Given the description of an element on the screen output the (x, y) to click on. 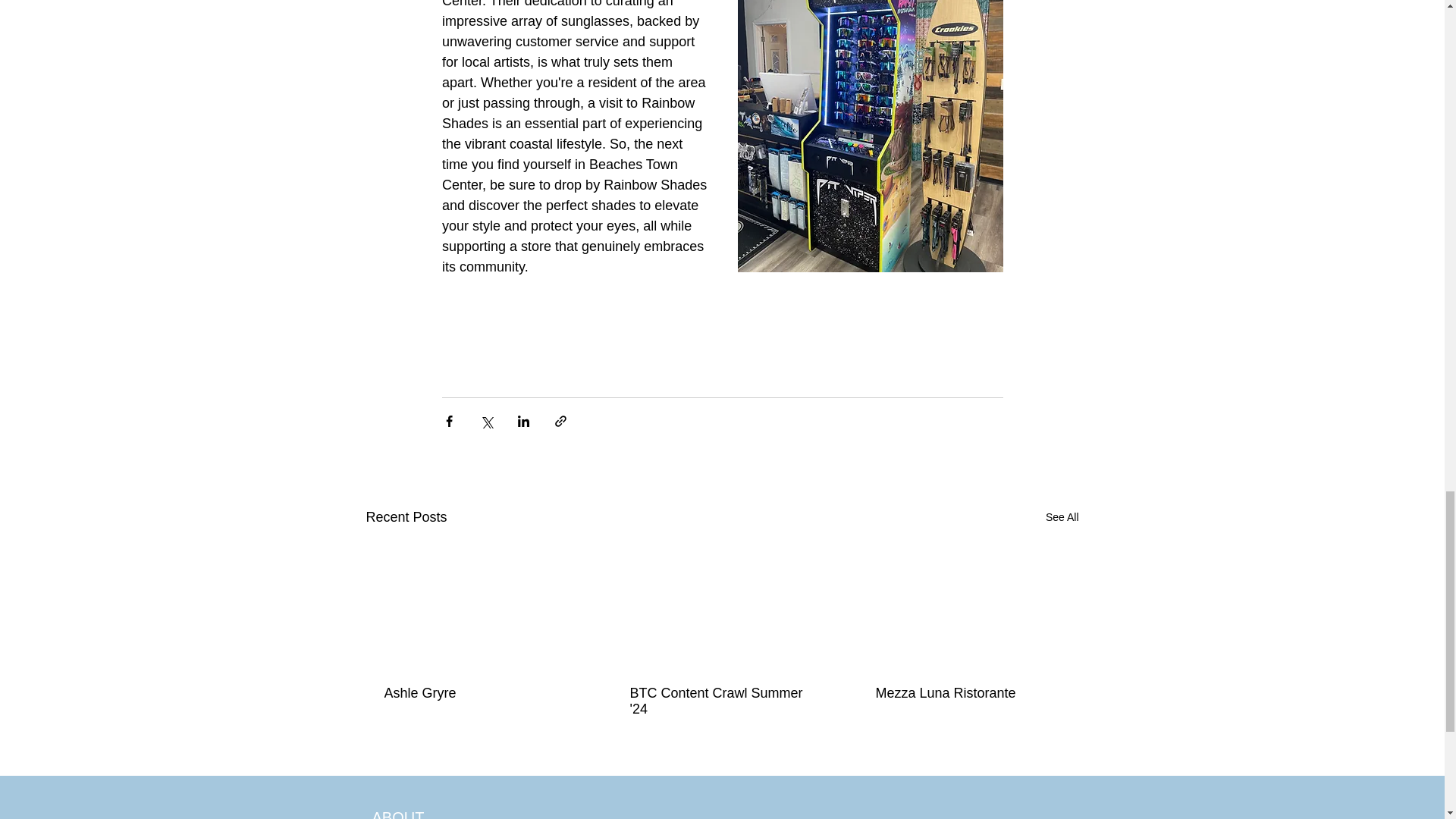
See All (1061, 517)
Ashle Gryre (475, 693)
BTC Content Crawl Summer '24 (720, 701)
Mezza Luna Ristorante (966, 693)
